Given the description of an element on the screen output the (x, y) to click on. 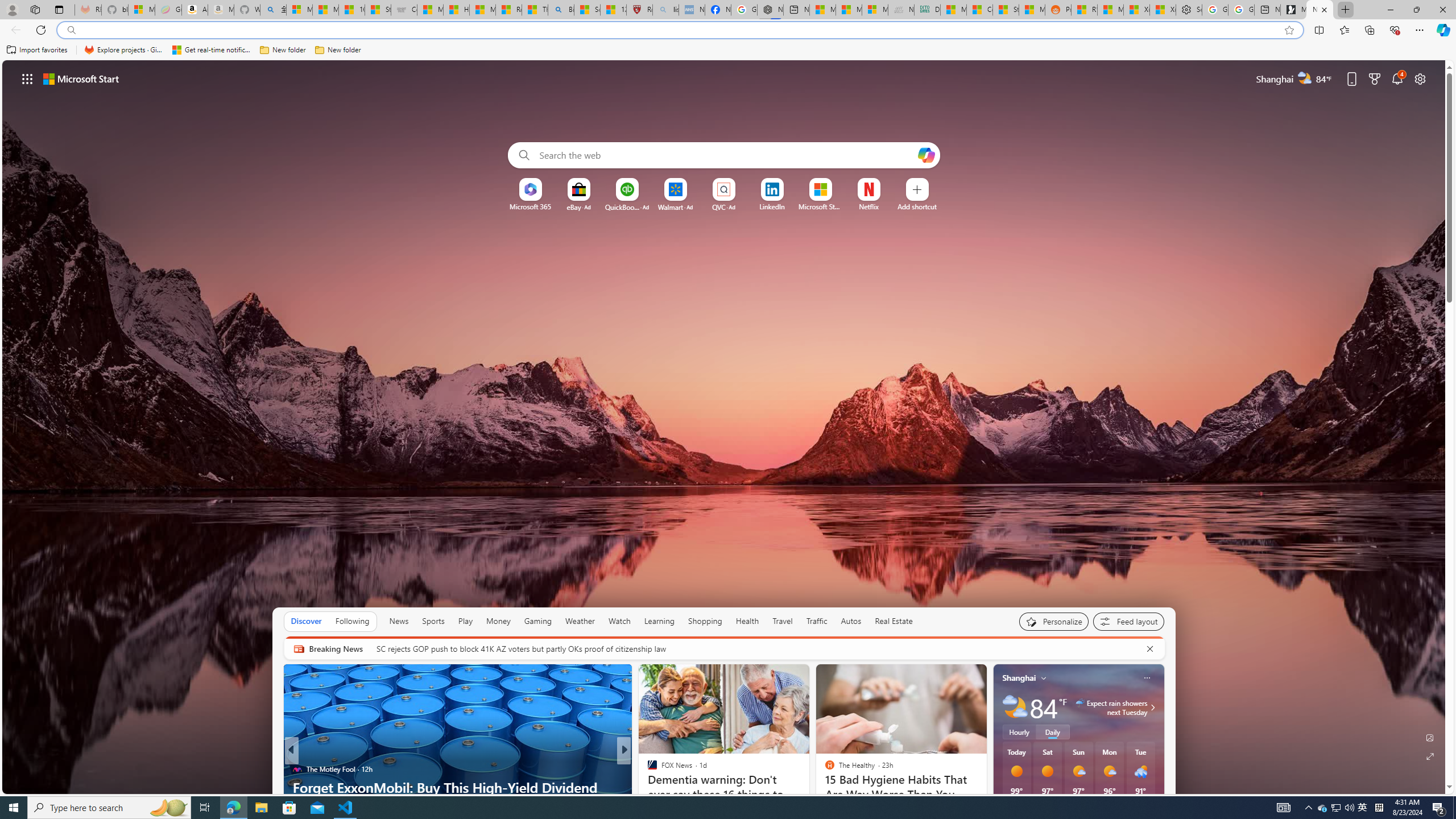
Partly cloudy (1014, 707)
